Given the description of an element on the screen output the (x, y) to click on. 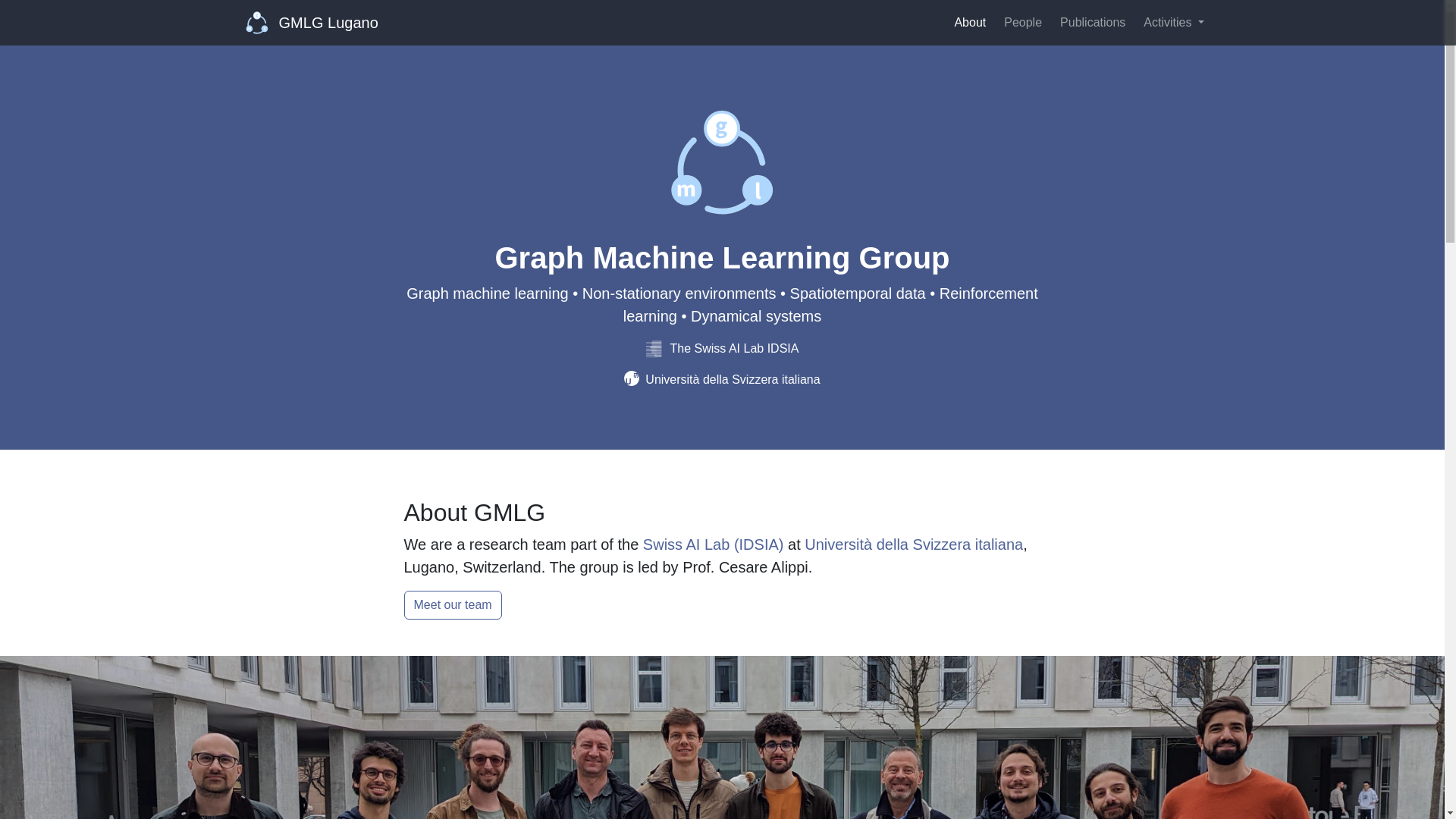
The Swiss AI Lab IDSIA (722, 348)
Publications (1092, 22)
Meet our team (451, 604)
People (1022, 22)
GMLG Lugano (312, 22)
Activities (1173, 22)
About (969, 22)
